Given the description of an element on the screen output the (x, y) to click on. 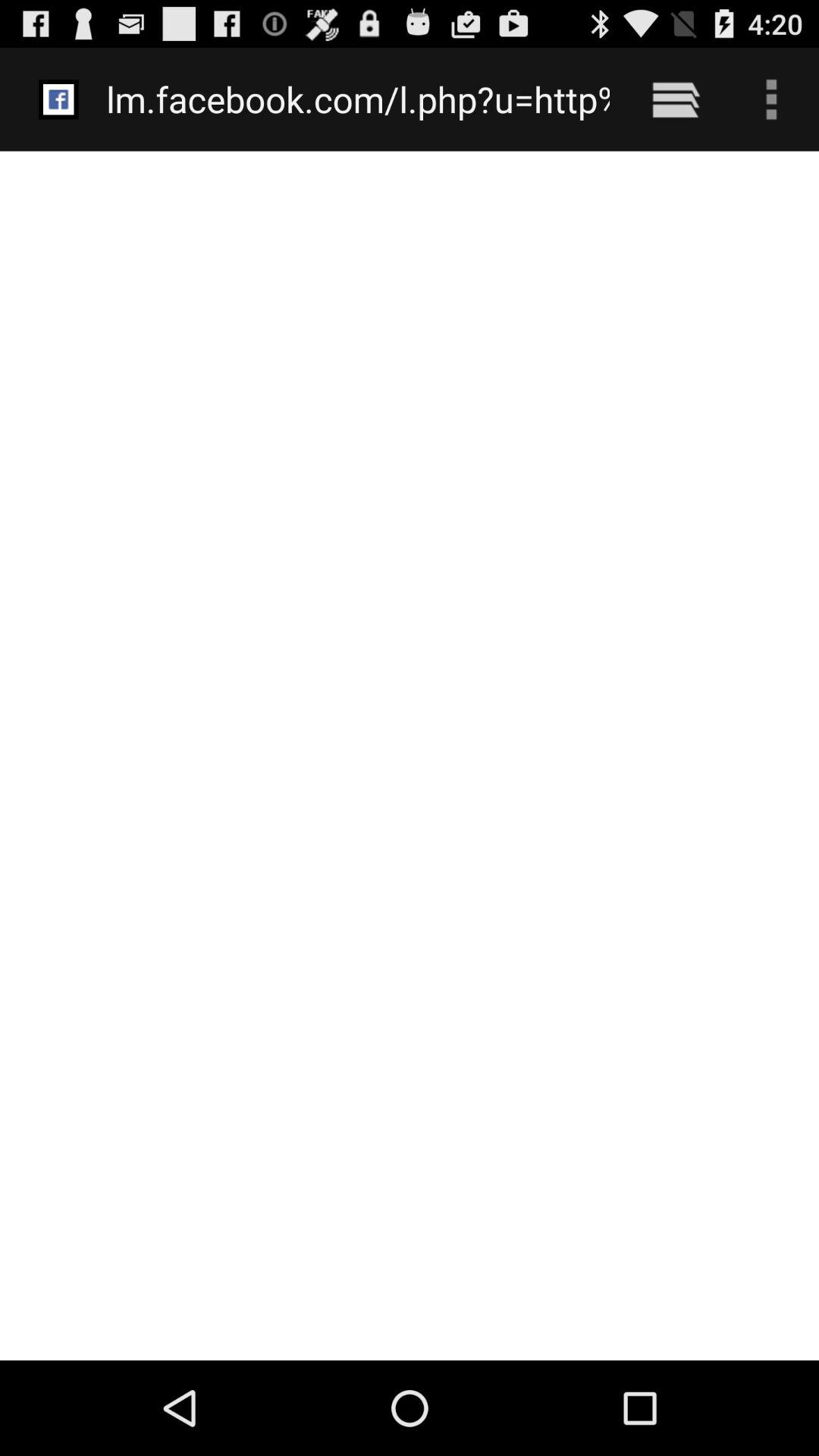
jump to lm facebook com icon (357, 99)
